Given the description of an element on the screen output the (x, y) to click on. 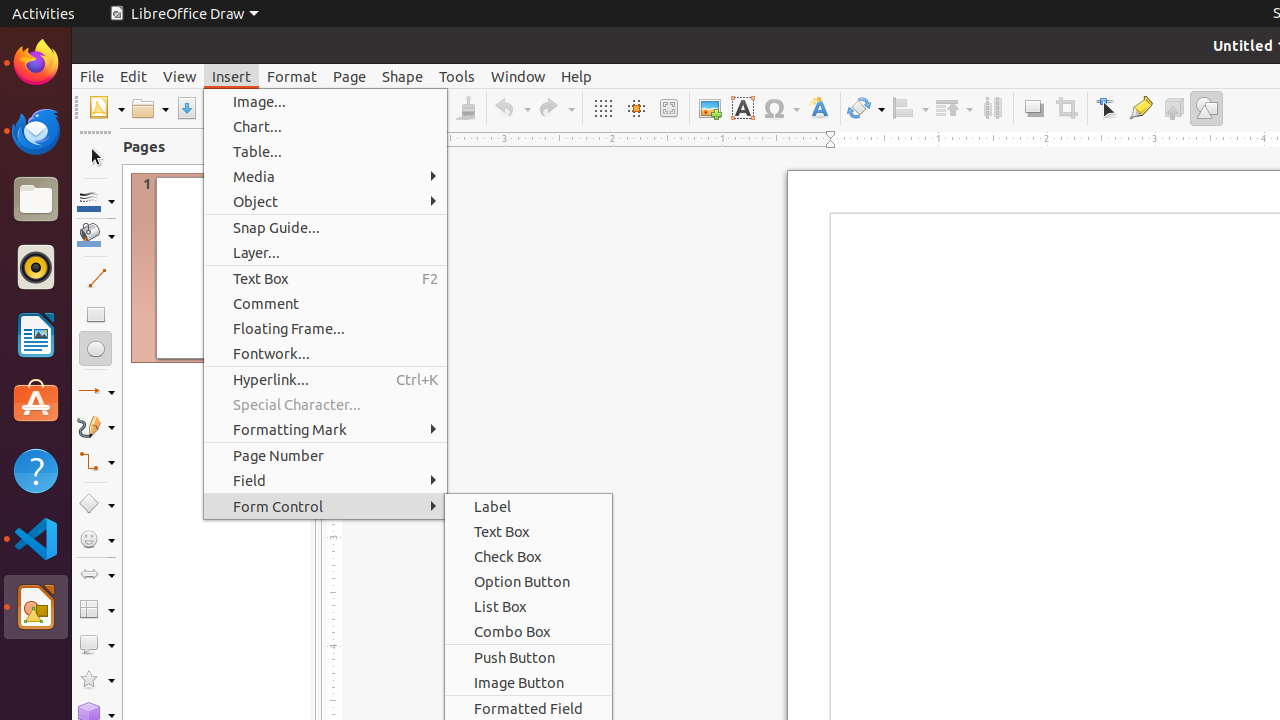
Thunderbird Mail Element type: push-button (36, 131)
Shadow Element type: toggle-button (1033, 108)
Arrange Element type: push-button (954, 108)
Format Element type: menu (292, 76)
